Given the description of an element on the screen output the (x, y) to click on. 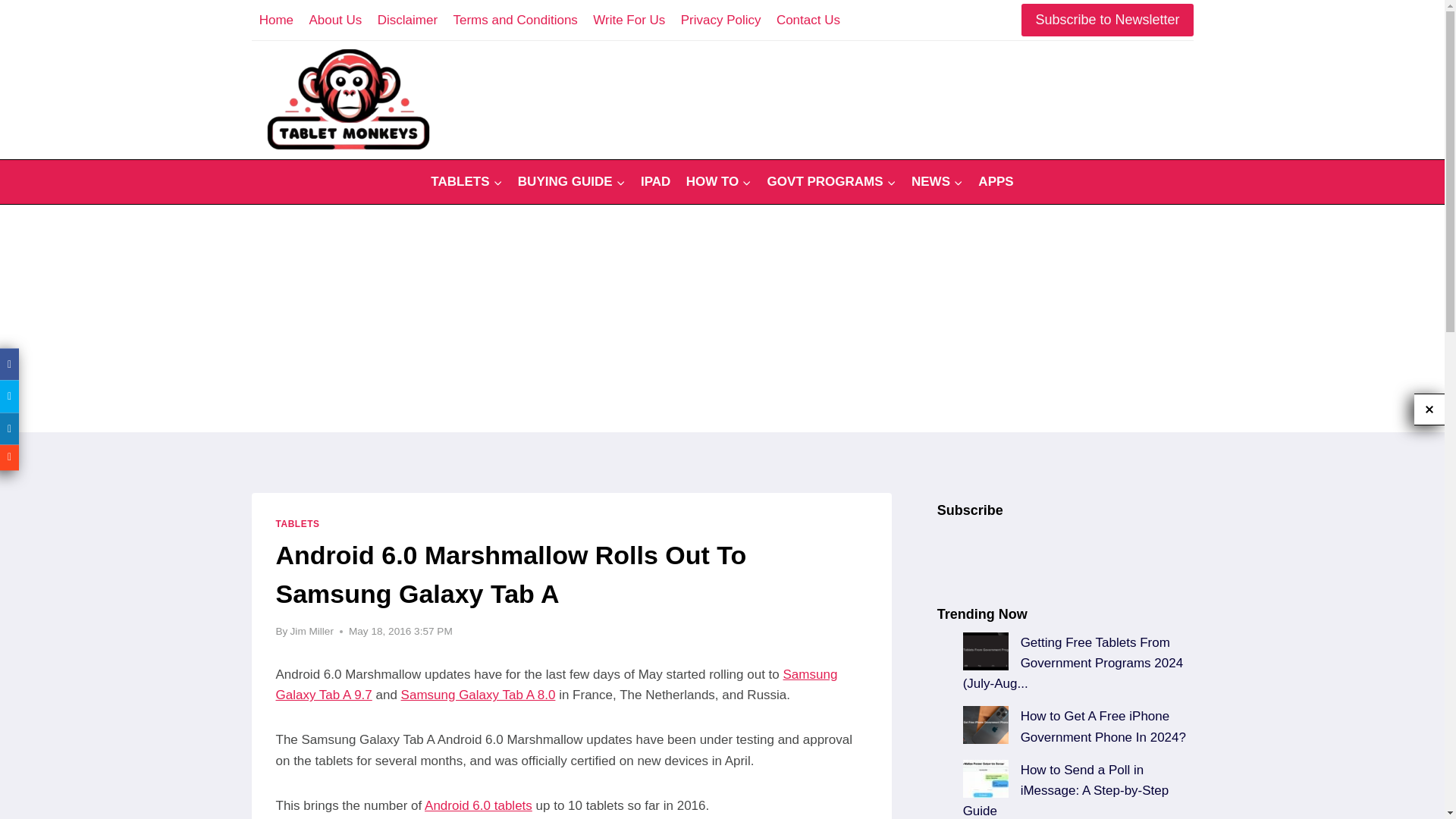
About Us (335, 19)
Android 6.0 tablets (478, 805)
Terms and Conditions (515, 19)
HOW TO (718, 181)
Subscribe to Newsletter (1107, 20)
Samsung Galaxy Tab A 9.7 (557, 684)
TABLETS (467, 181)
APPS (996, 181)
Write For Us (628, 19)
NEWS (937, 181)
GOVT PROGRAMS (830, 181)
IPAD (655, 181)
BUYING GUIDE (572, 181)
Home (276, 19)
Samsung Galaxy Tab A 8.0 (478, 694)
